Given the description of an element on the screen output the (x, y) to click on. 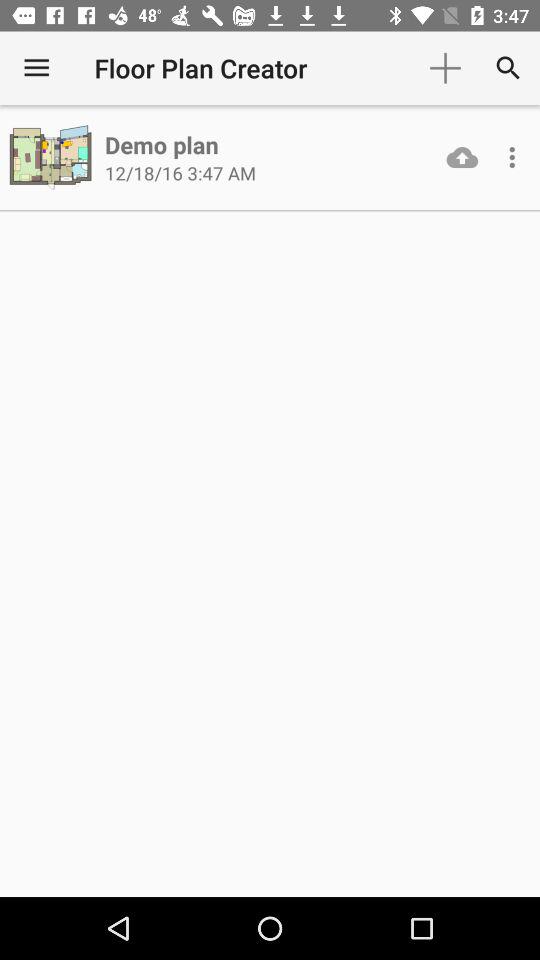
click icon below the demo plan (180, 172)
